Given the description of an element on the screen output the (x, y) to click on. 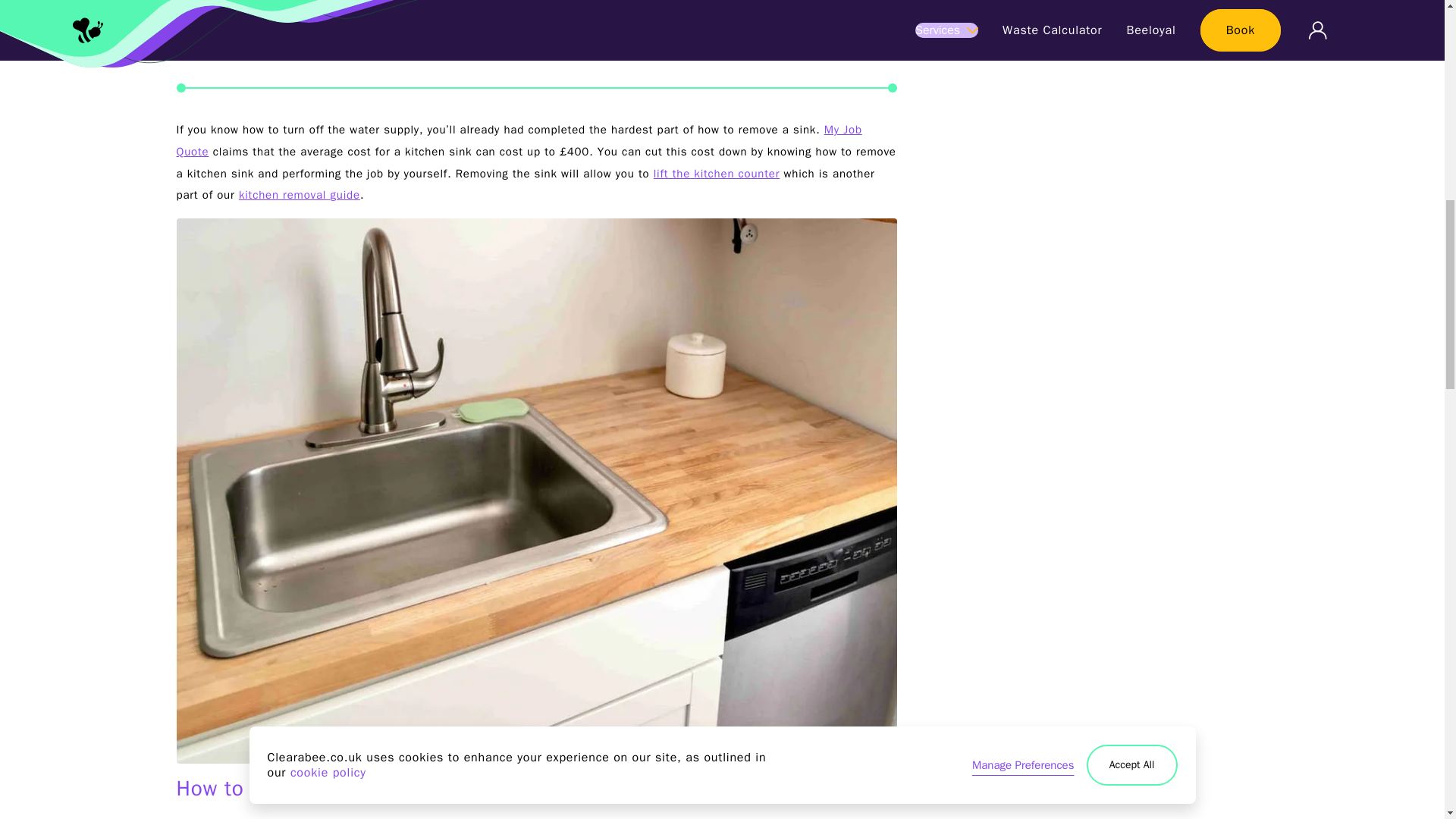
kitchen removal guide (298, 194)
How to Remove Vinyl Flooring (272, 41)
lift the kitchen counter (716, 173)
How to Remove Kitchen Countertops (295, 13)
My Job Quote (518, 140)
